Given the description of an element on the screen output the (x, y) to click on. 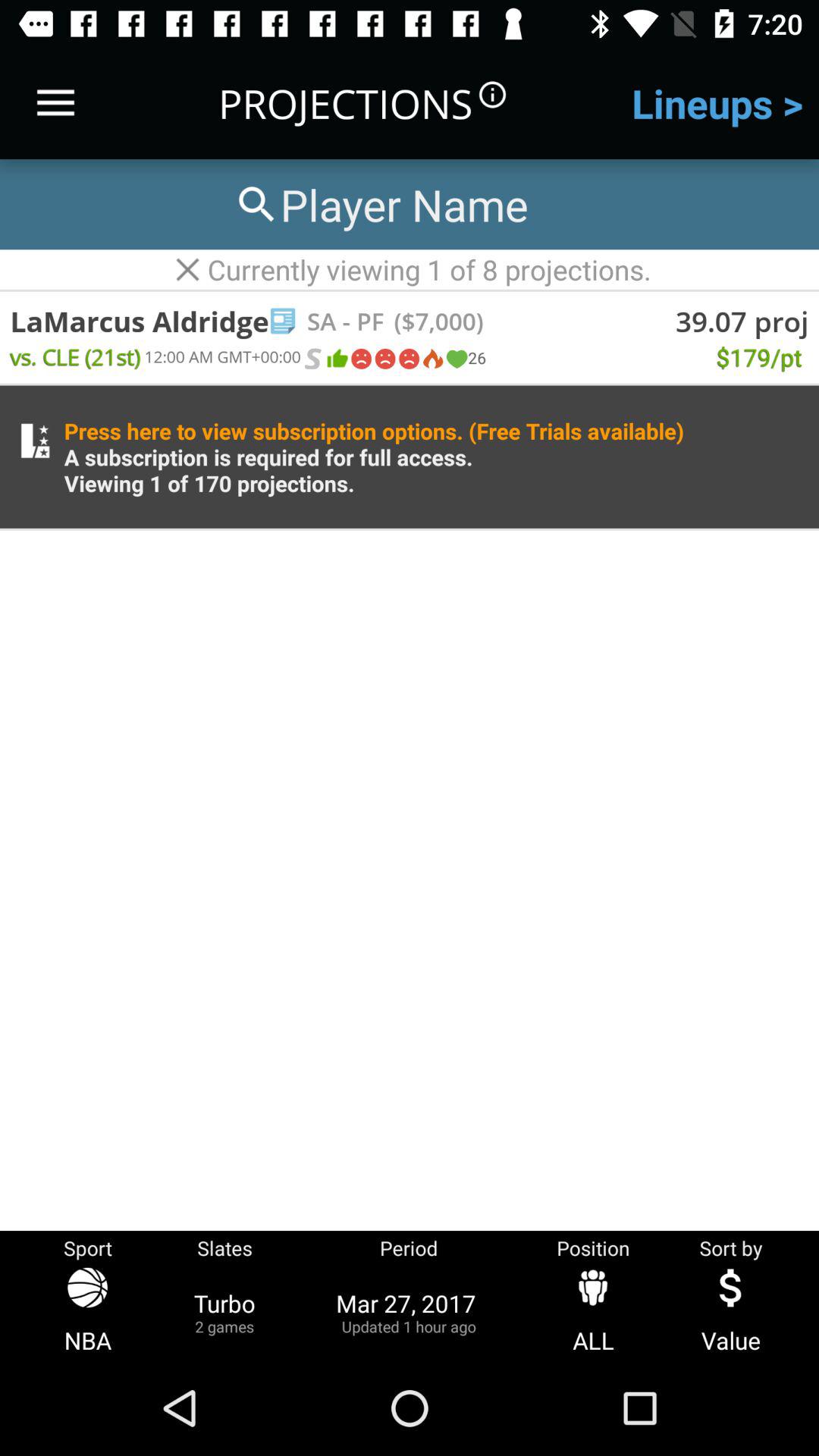
click on the close option (187, 268)
select like icon in the page (336, 359)
select the icon below the  symbol (408, 359)
click on the file icon on the left side of the lamarcus aldridge (283, 320)
select nba with its logo (87, 1312)
